Given the description of an element on the screen output the (x, y) to click on. 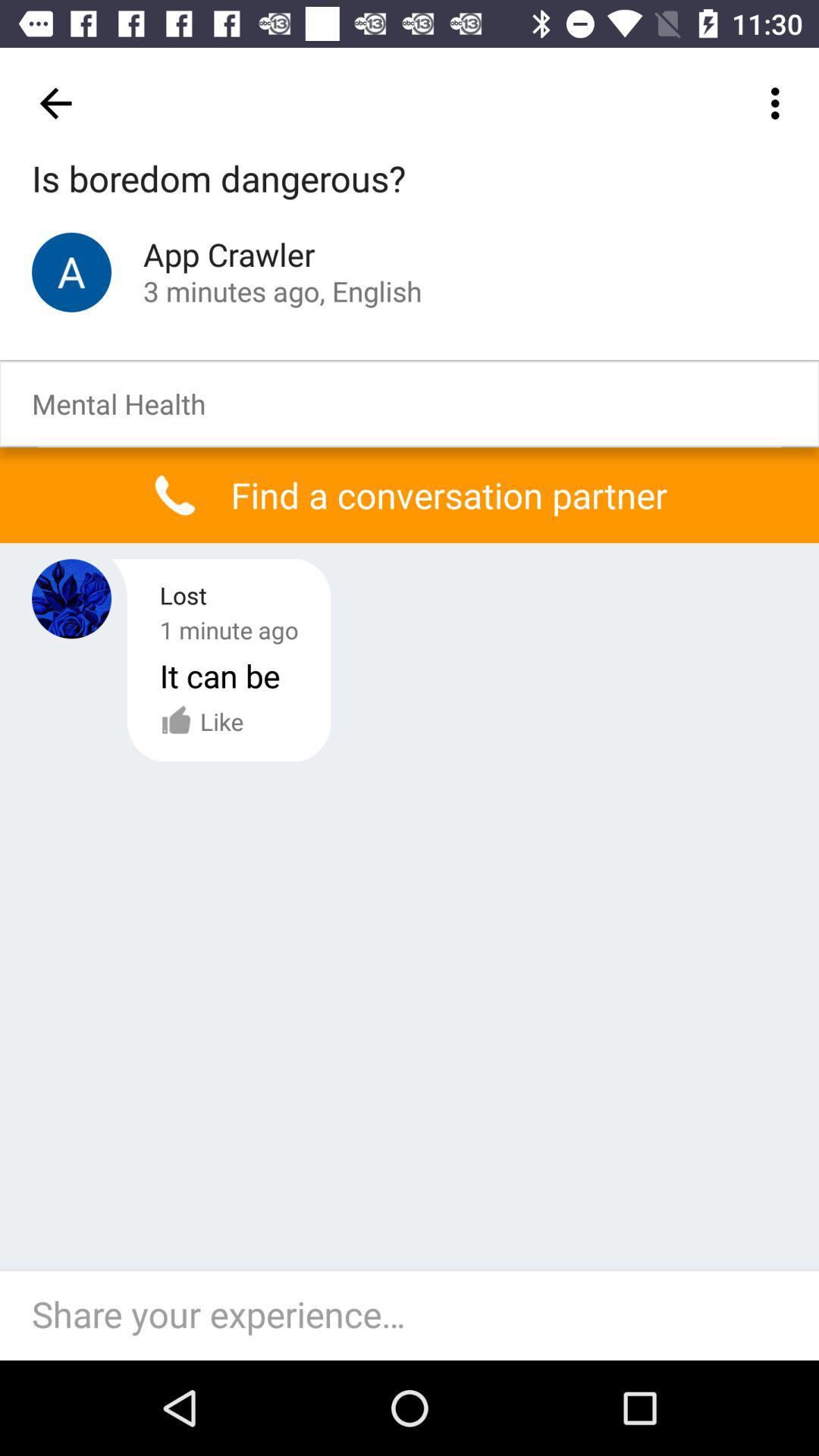
turn on it can be icon (219, 675)
